Given the description of an element on the screen output the (x, y) to click on. 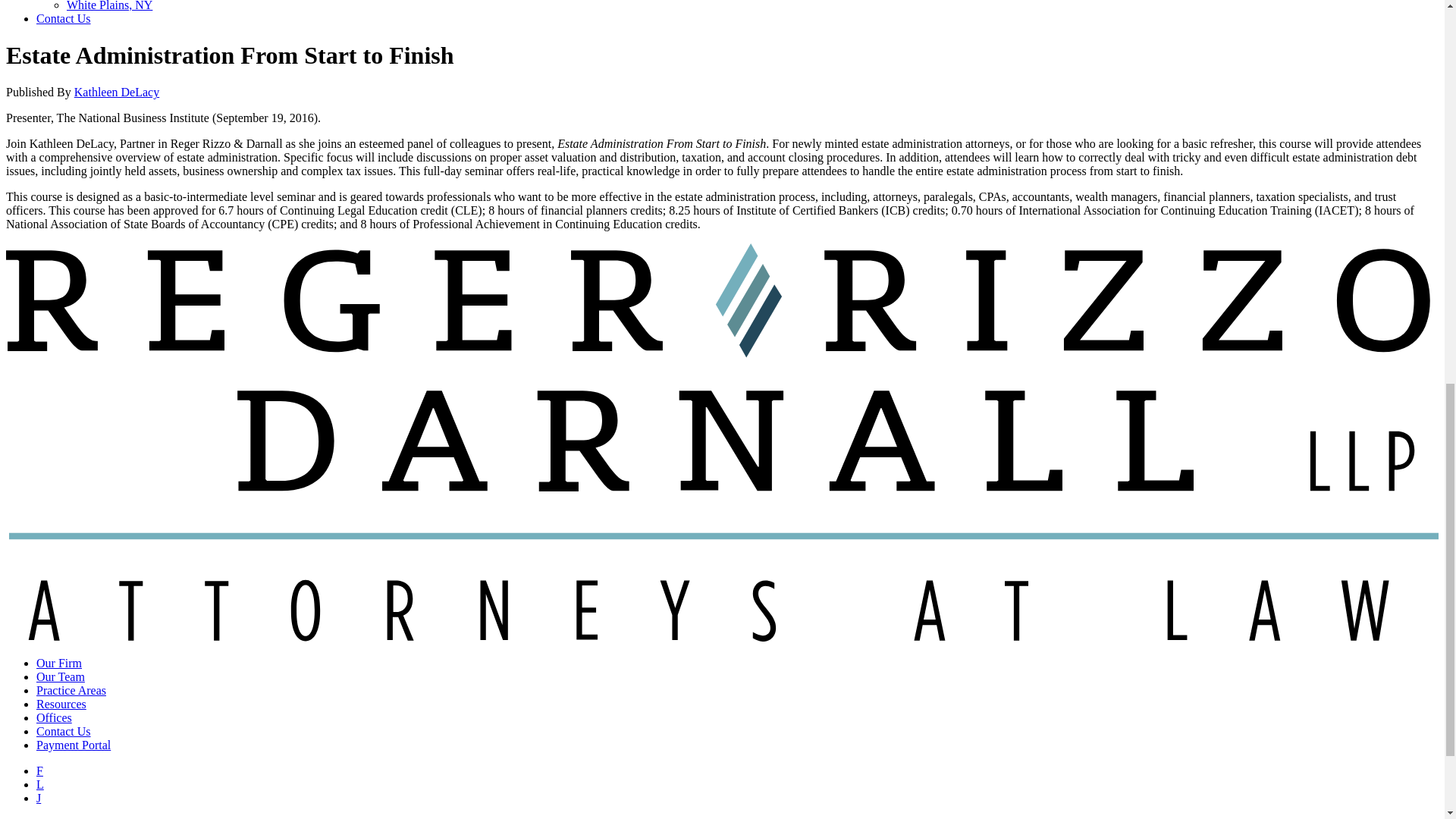
Contact Us (63, 18)
Offices (53, 717)
Our Firm (58, 662)
Our Team (60, 676)
Practice Areas (71, 689)
White Plains, NY (109, 5)
Kathleen DeLacy (116, 91)
Resources (60, 703)
